Given the description of an element on the screen output the (x, y) to click on. 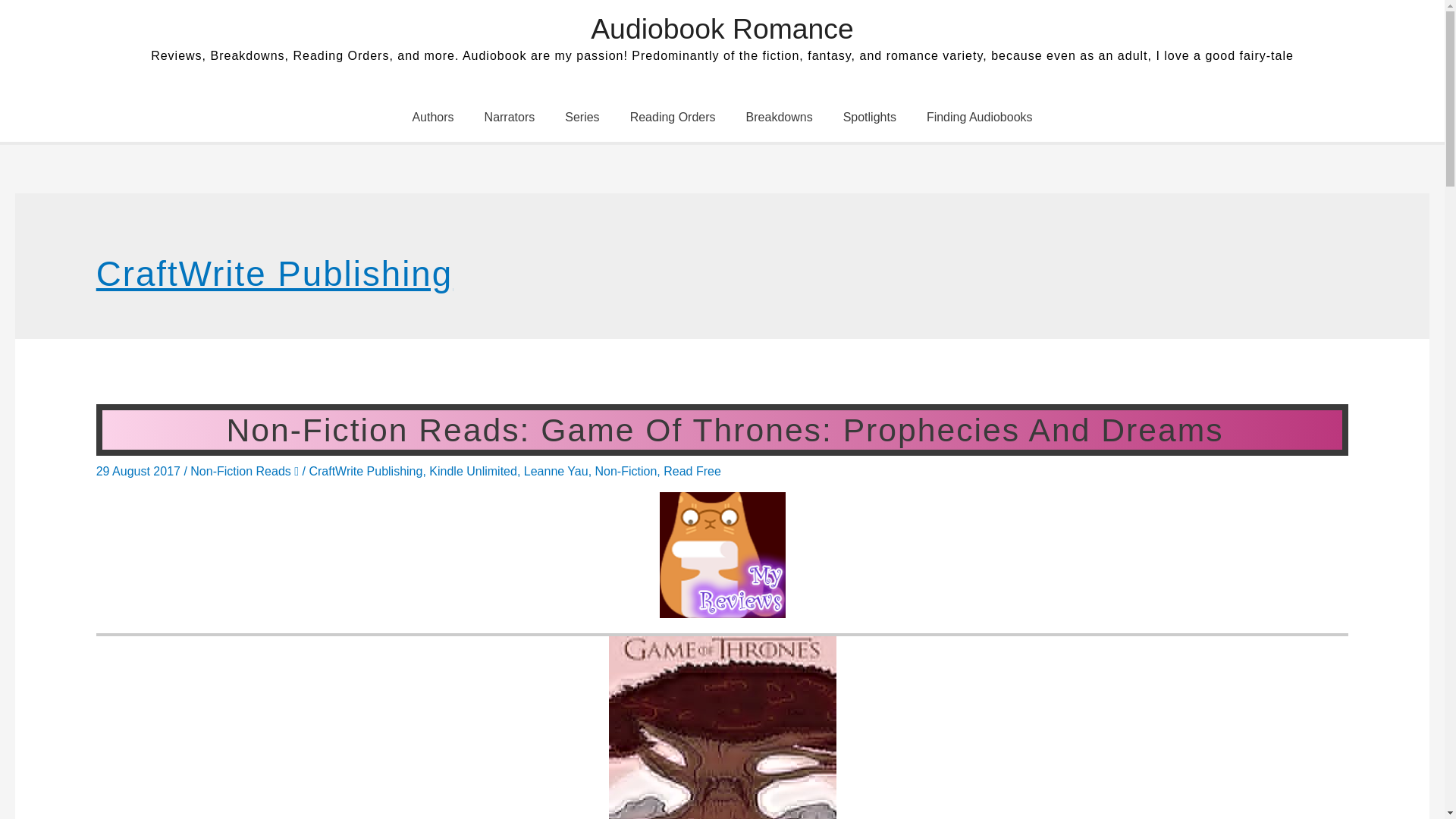
Series (582, 117)
Spotlights (869, 117)
Narrators (509, 117)
Breakdowns (779, 117)
Authors (432, 117)
Finding Audiobooks (979, 117)
CraftWrite Publishing (365, 471)
Non-Fiction Reads: Game Of Thrones: Prophecies And Dreams (722, 429)
Reading Orders (672, 117)
Non-Fiction (626, 471)
